Given the description of an element on the screen output the (x, y) to click on. 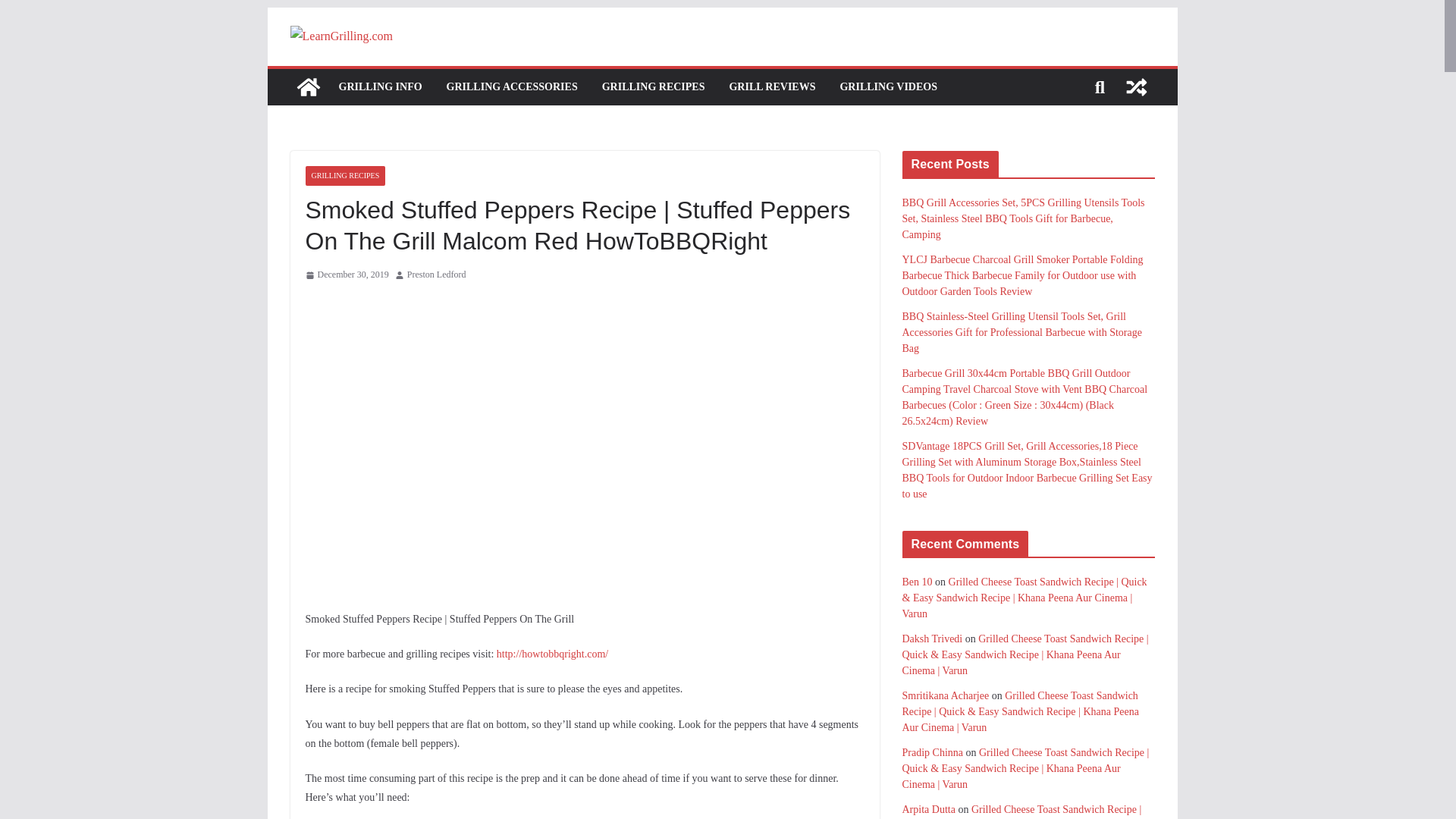
LearnGrilling.com (307, 86)
GRILLING INFO (379, 86)
GRILLING RECIPES (653, 86)
View a random post (1136, 86)
December 30, 2019 (346, 274)
GRILLING RECIPES (344, 175)
GRILLING VIDEOS (888, 86)
GRILLING ACCESSORIES (512, 86)
Preston Ledford (436, 274)
